Given the description of an element on the screen output the (x, y) to click on. 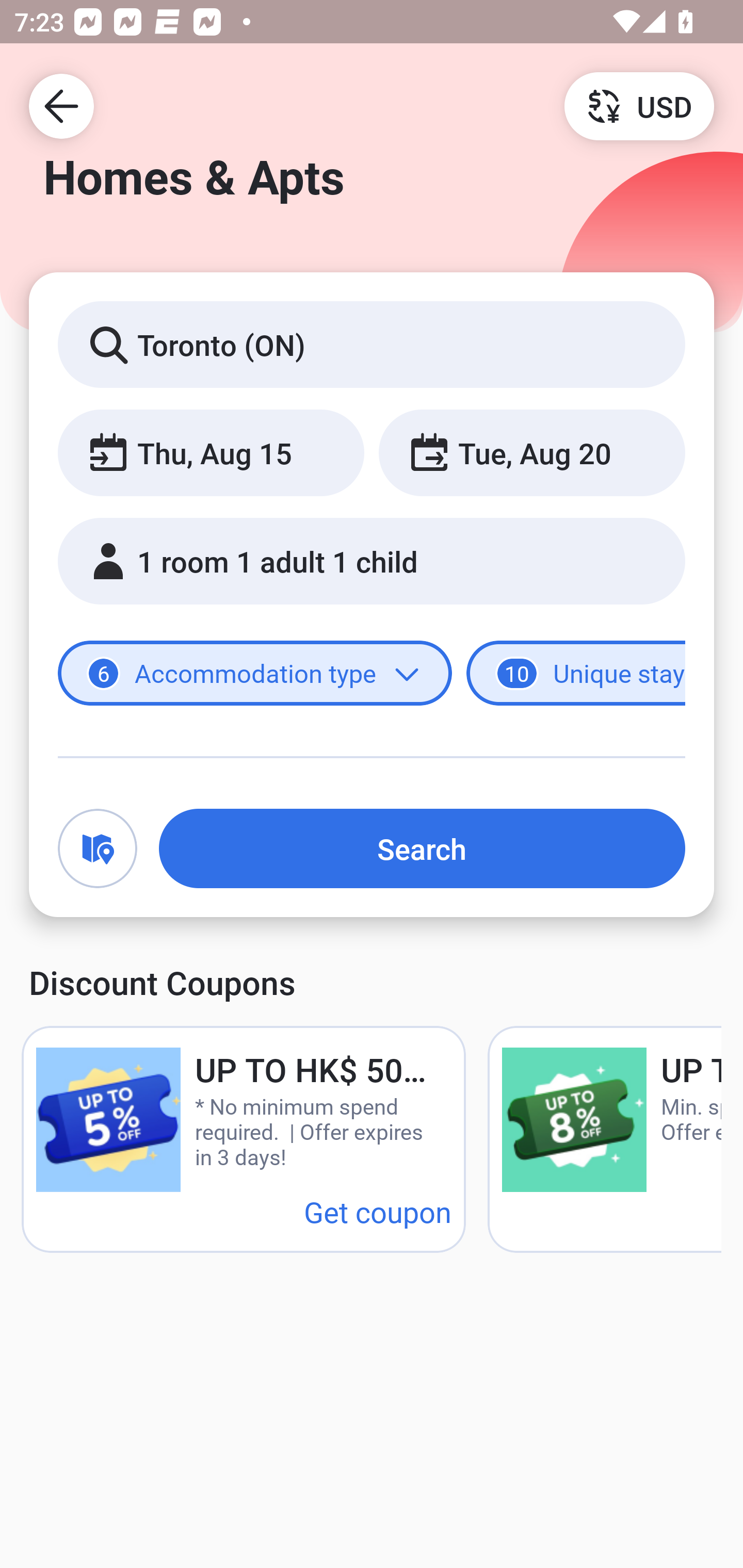
USD (639, 105)
Toronto (ON) (371, 344)
Thu, Aug 15 (210, 452)
Tue, Aug 20 (531, 452)
1 room 1 adult 1 child (371, 561)
6 Accommodation type (254, 673)
10 Unique stays (575, 673)
Search (422, 848)
Get coupon (377, 1211)
